Given the description of an element on the screen output the (x, y) to click on. 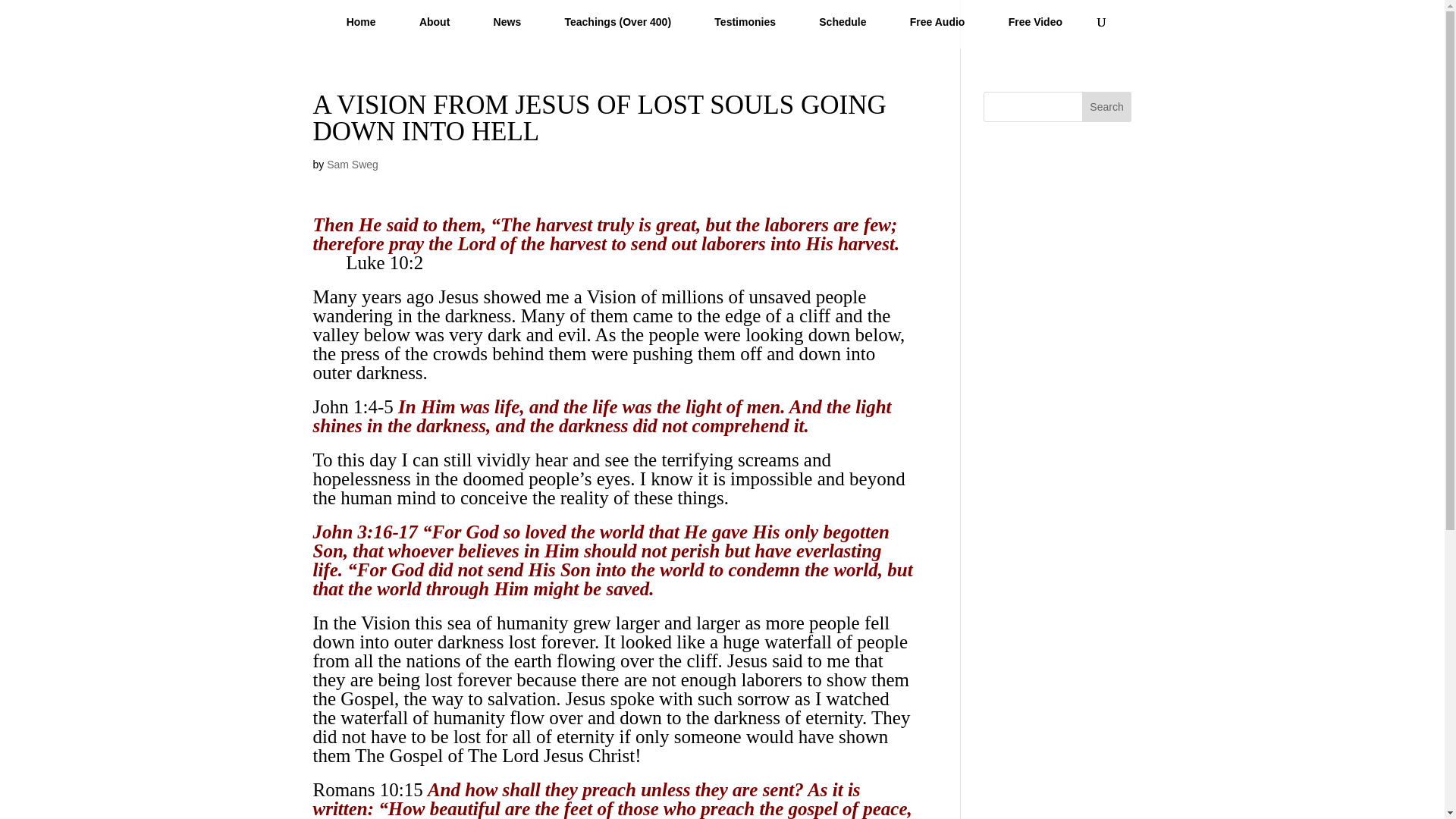
Schedule (842, 28)
Posts by Sam Sweg (352, 164)
Search (1106, 106)
About (434, 28)
News (506, 28)
Search (1106, 106)
Free Video (1035, 28)
Testimonies (745, 28)
Sam Sweg (352, 164)
Home (360, 28)
Free Audio (937, 28)
